Given the description of an element on the screen output the (x, y) to click on. 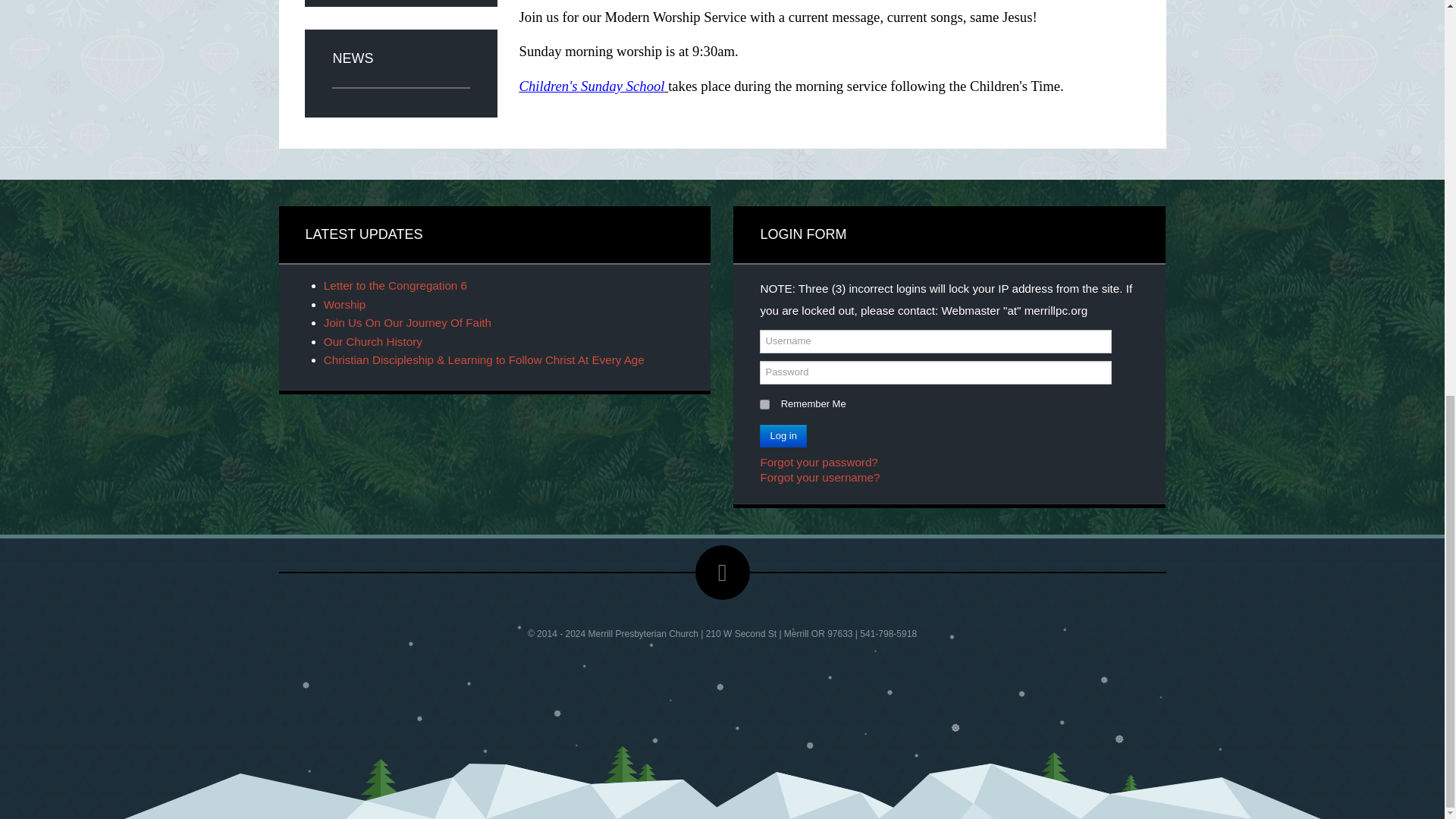
Forgot your password? (818, 461)
Worship (344, 304)
Join Us On Our Journey Of Faith (407, 322)
Log in (783, 436)
Facebook (721, 572)
Forgot your username? (819, 477)
Letter to the Congregation 6 (395, 285)
Our Church History (372, 341)
yes (765, 404)
